Given the description of an element on the screen output the (x, y) to click on. 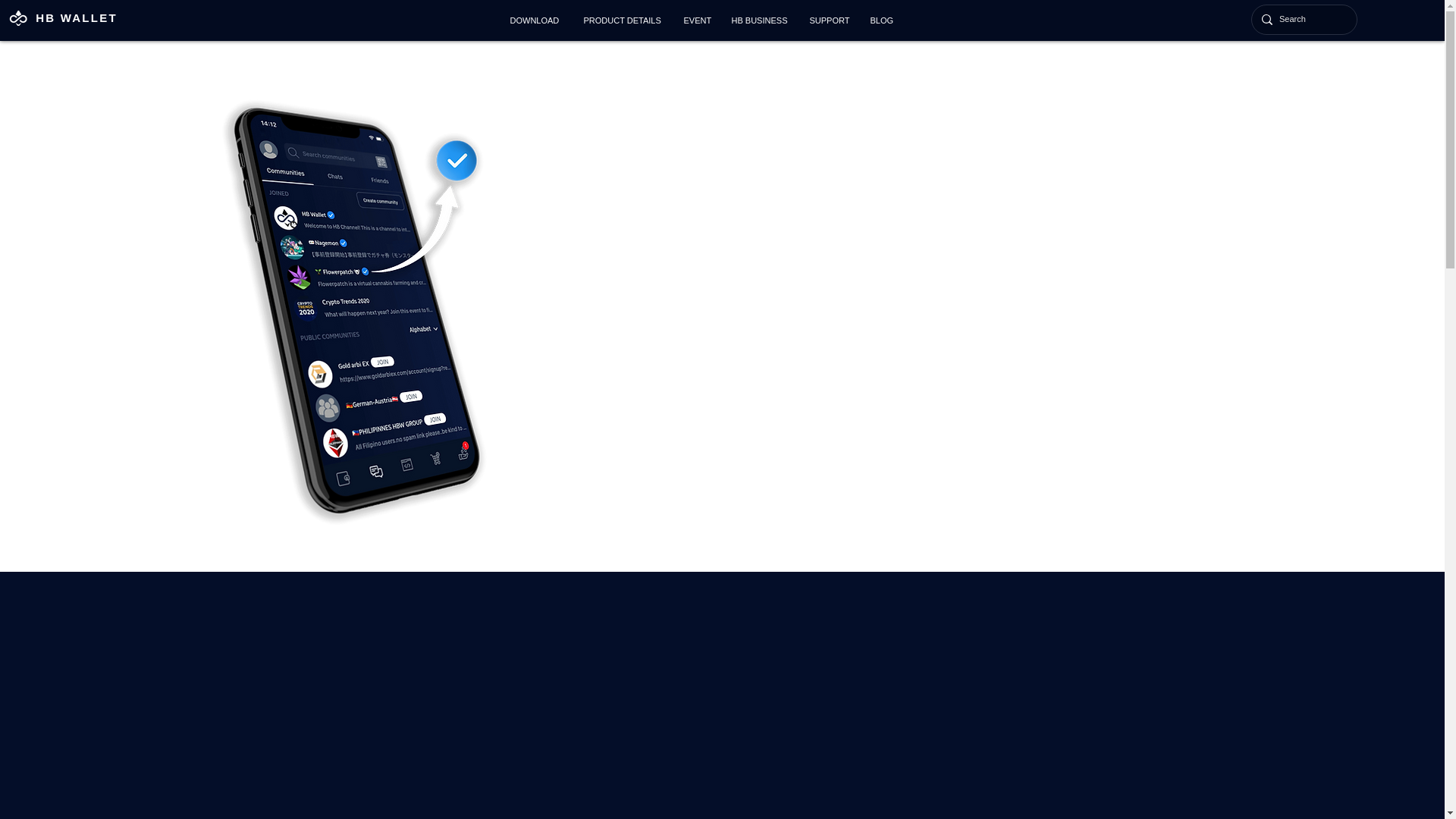
HB WALLET (75, 17)
HB Wallet Logo (17, 17)
BLOG (884, 20)
